Given the description of an element on the screen output the (x, y) to click on. 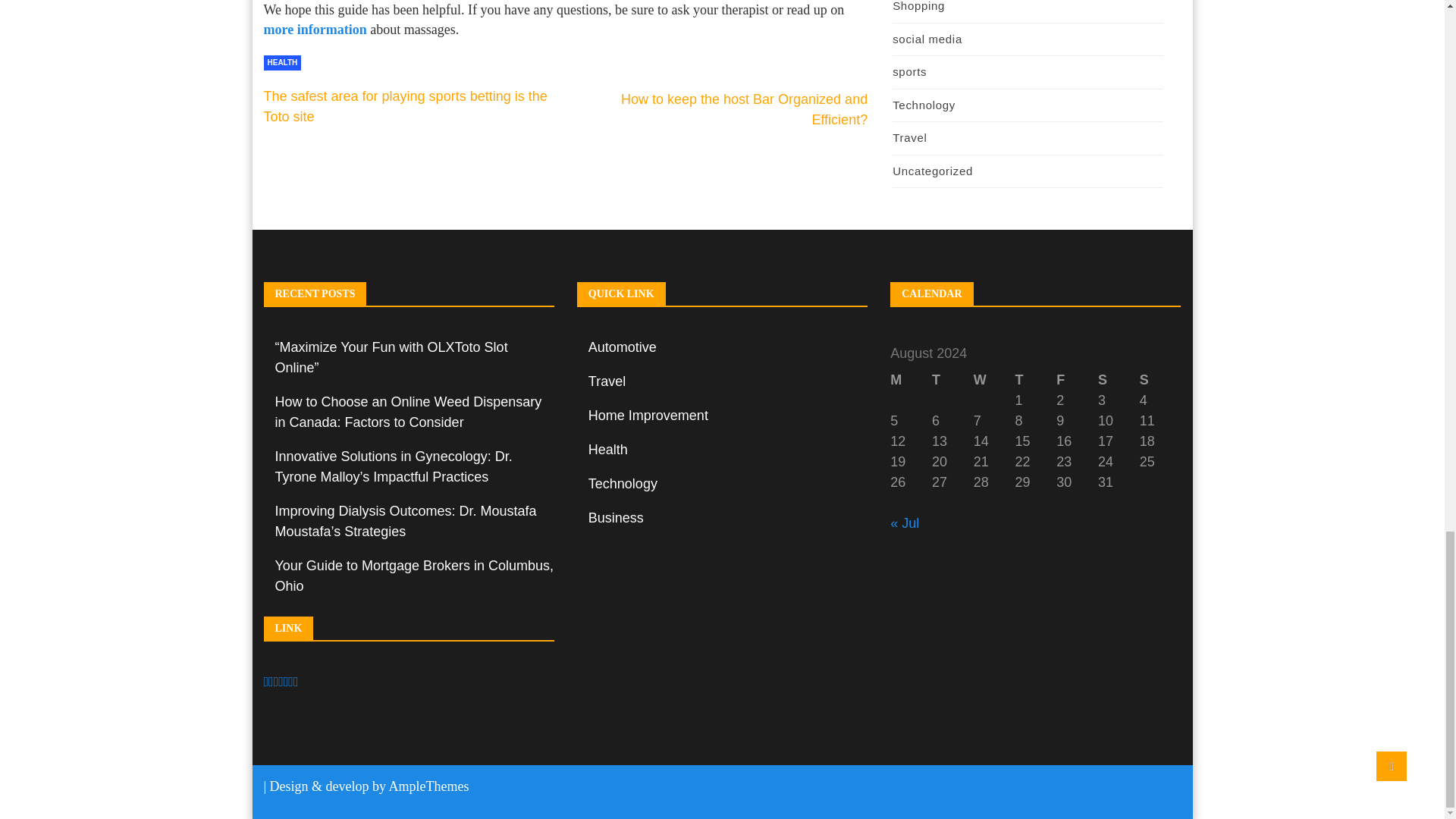
Friday (1077, 380)
Tuesday (952, 380)
more information (314, 29)
The safest area for playing sports betting is the Toto site (405, 106)
How to keep the host Bar Organized and Efficient? (744, 109)
Monday (910, 380)
Sunday (1160, 380)
Saturday (1118, 380)
Thursday (1035, 380)
HEALTH (282, 62)
Wednesday (994, 380)
